Given the description of an element on the screen output the (x, y) to click on. 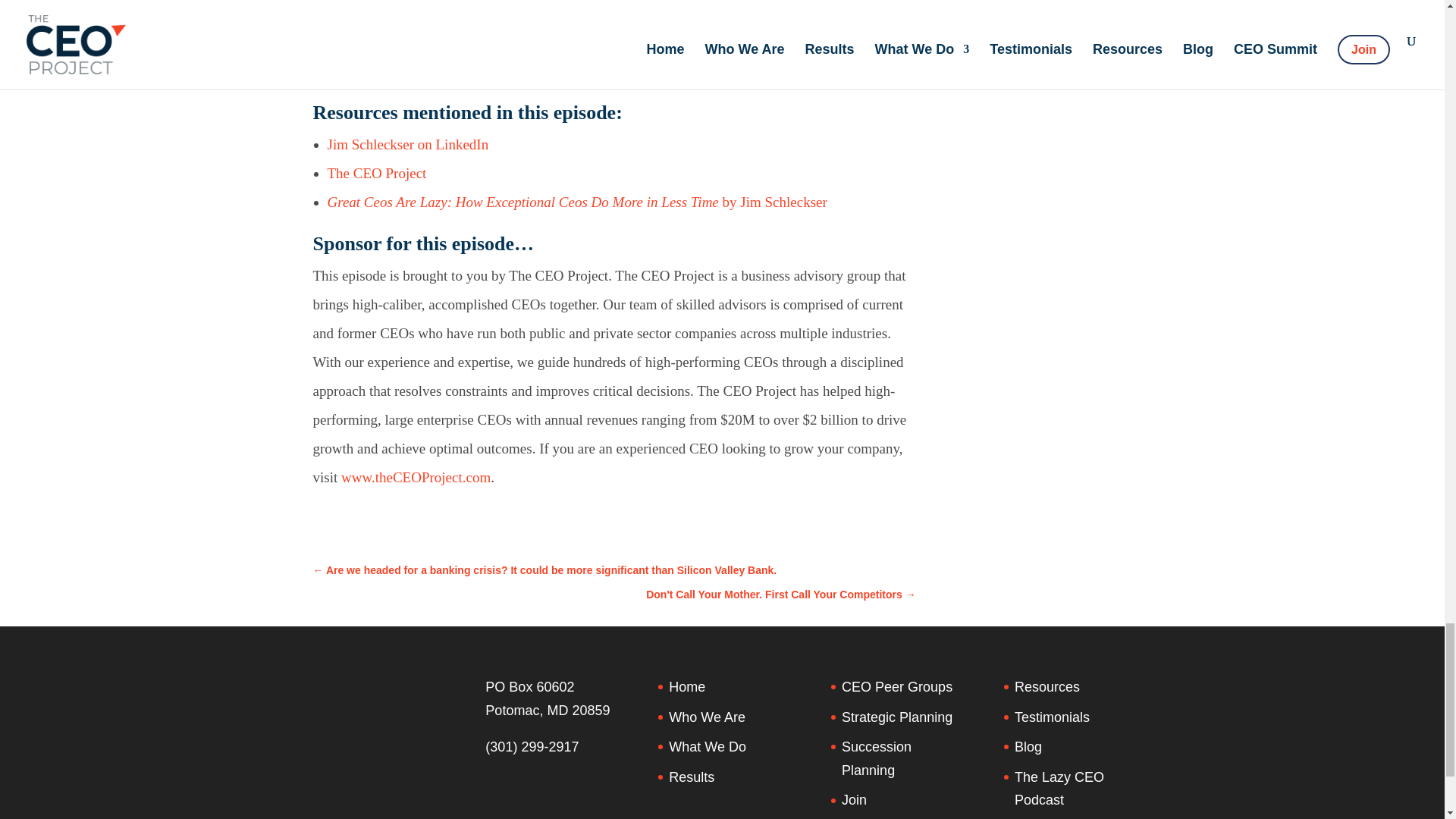
www.theCEOProject.com (415, 477)
The CEO Project (376, 172)
Telephone (531, 746)
Jim Schleckser on LinkedIn (408, 144)
